Given the description of an element on the screen output the (x, y) to click on. 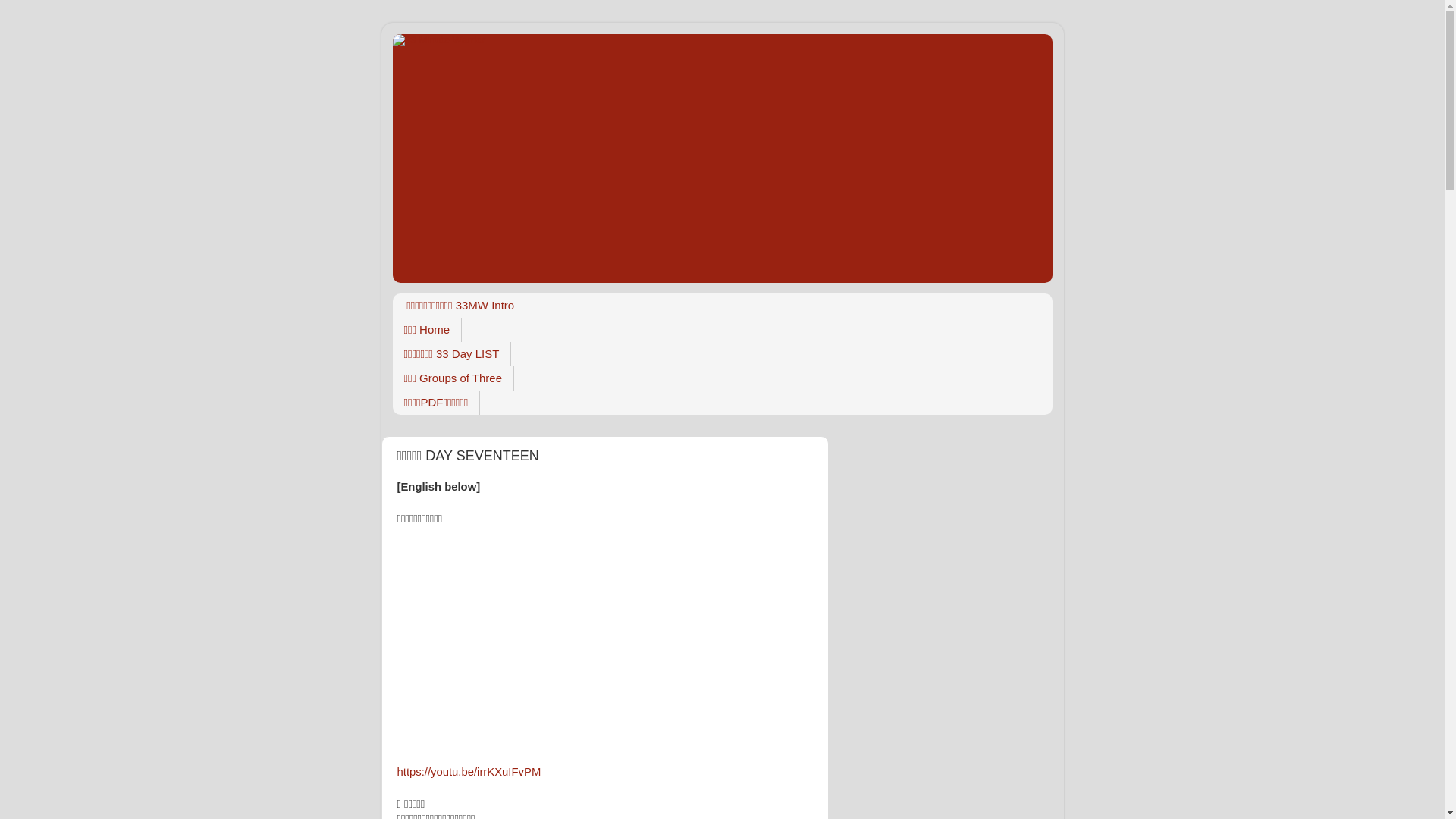
https://youtu.be/irrKXuIFvPM Element type: text (469, 771)
